Given the description of an element on the screen output the (x, y) to click on. 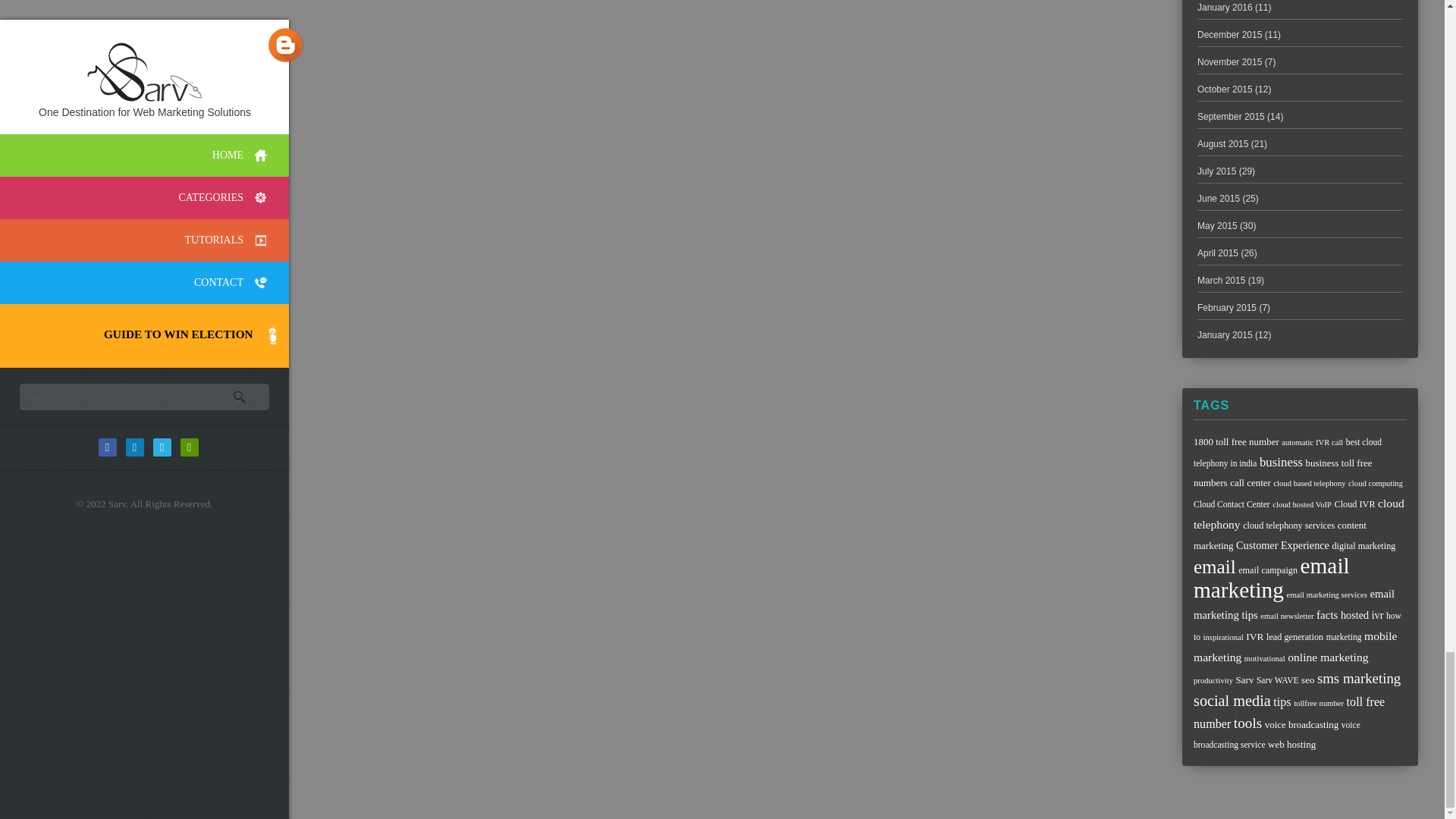
9 topics (1287, 452)
11 topics (1250, 482)
11 topics (1282, 472)
19 topics (1281, 462)
8 topics (1311, 442)
11 topics (1236, 441)
